Given the description of an element on the screen output the (x, y) to click on. 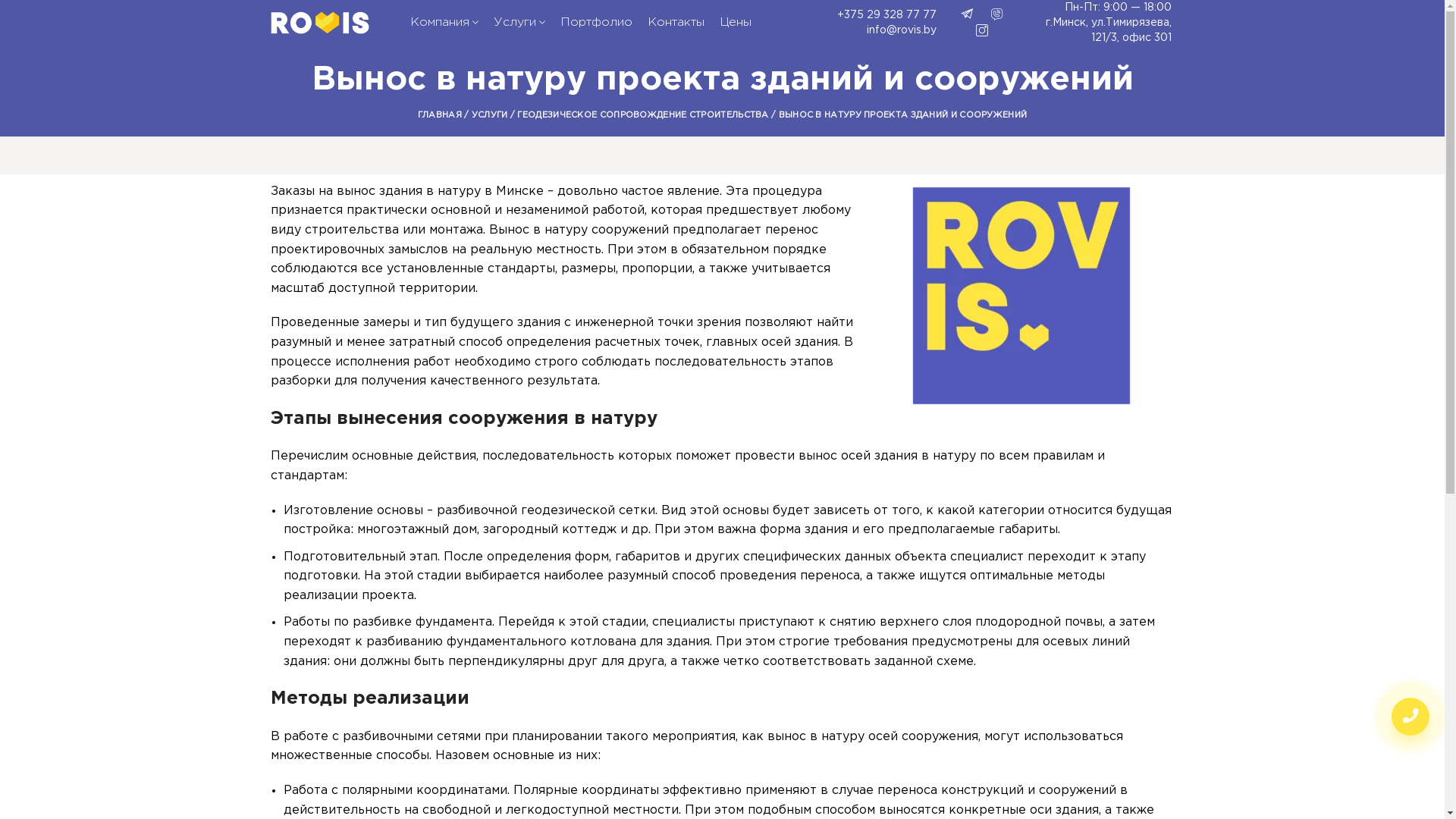
instagram Element type: text (981, 30)
+375 29 328 77 77 Element type: text (864, 14)
telegram Element type: text (966, 14)
info@rovis.by Element type: text (864, 29)
viber Element type: text (997, 14)
